Given the description of an element on the screen output the (x, y) to click on. 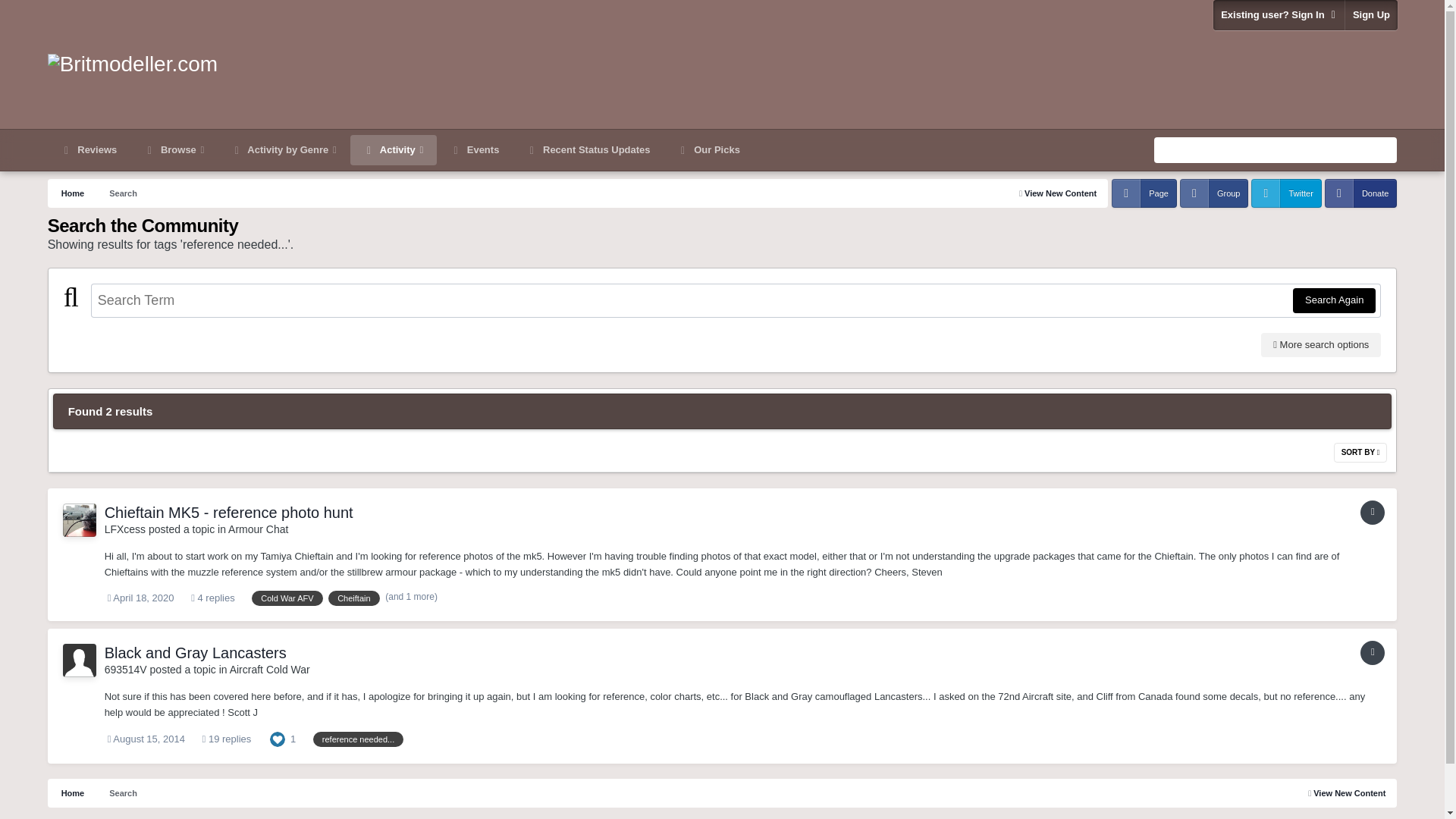
Find other content tagged with 'Cheiftain' (353, 598)
Topic (1371, 512)
Topic (1371, 652)
Home (72, 193)
Home (72, 792)
Existing user? Sign In   (1277, 15)
Go to LFXcess's profile (79, 520)
Sign Up (1369, 15)
Activity (393, 150)
Find other content tagged with 'reference needed...' (358, 739)
